Given the description of an element on the screen output the (x, y) to click on. 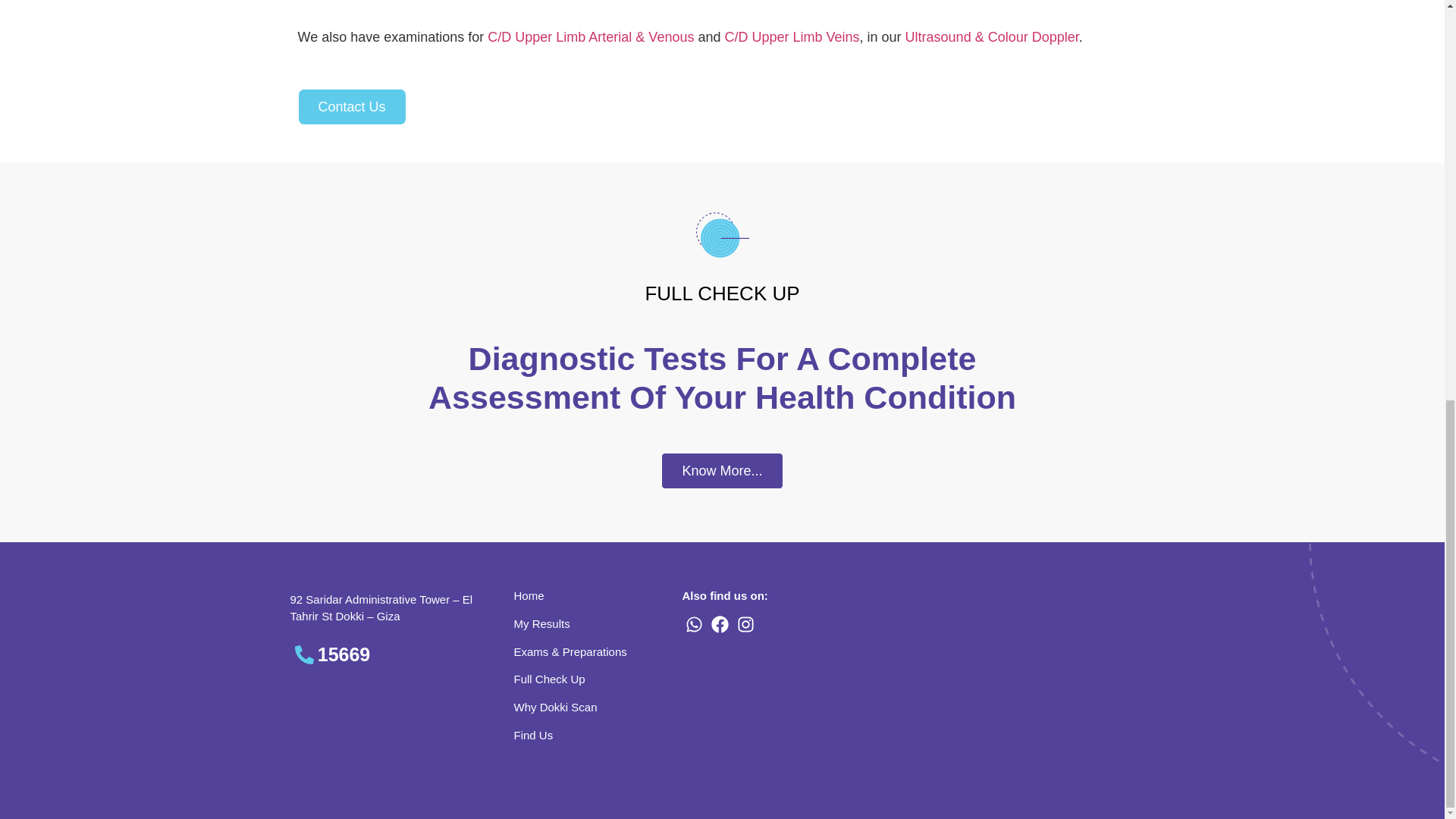
Home (528, 594)
Find Us (533, 735)
15669 (386, 654)
Why Dokki Scan (554, 707)
Full Check Up (549, 678)
Know More... (722, 470)
My Results (541, 623)
Contact Us (351, 106)
